Given the description of an element on the screen output the (x, y) to click on. 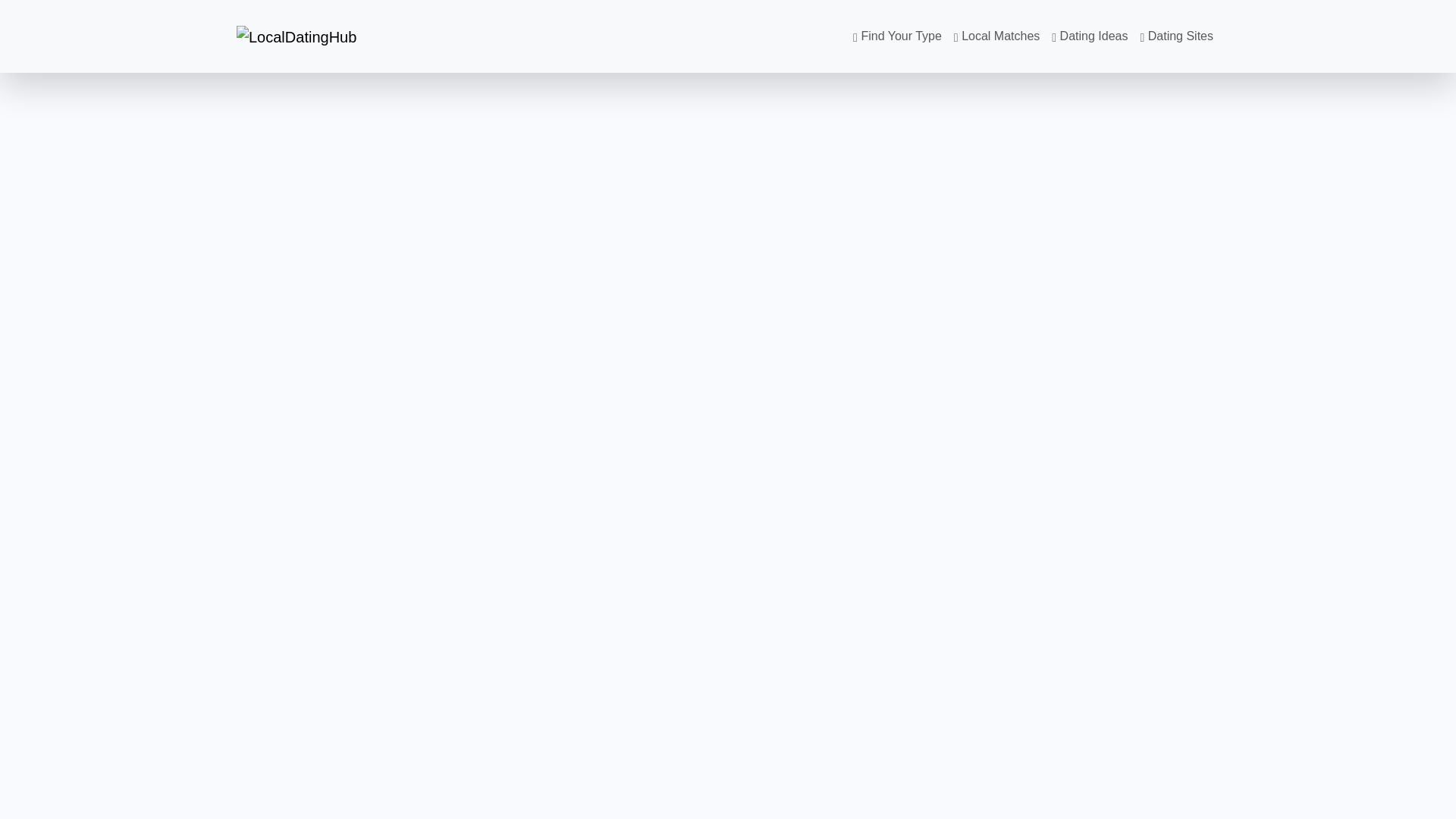
Dating Sites (1177, 36)
Local Matches (996, 36)
Find Your Type (897, 36)
Dating Ideas (1089, 36)
